Given the description of an element on the screen output the (x, y) to click on. 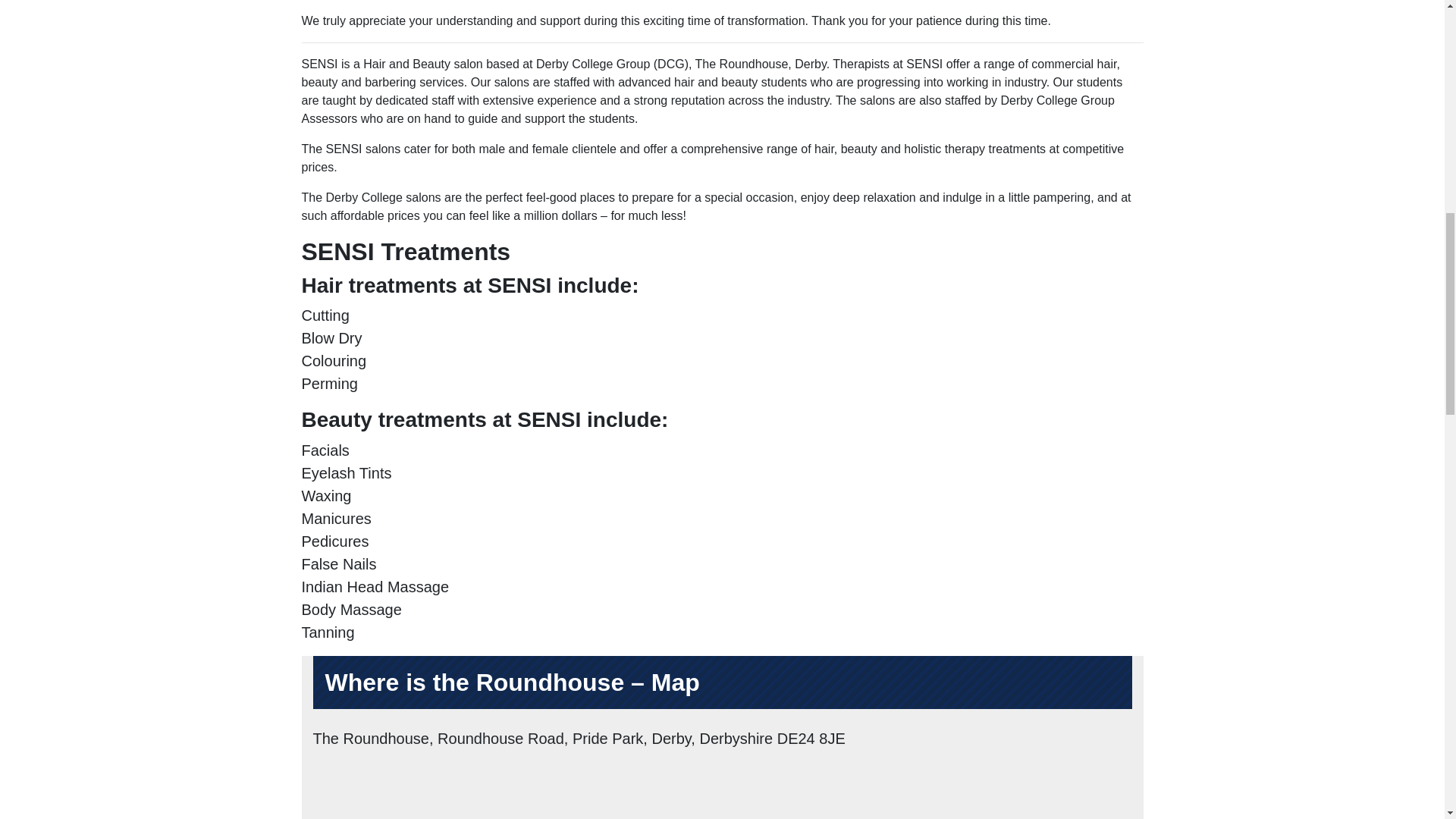
roundhouse derby map (722, 790)
